Given the description of an element on the screen output the (x, y) to click on. 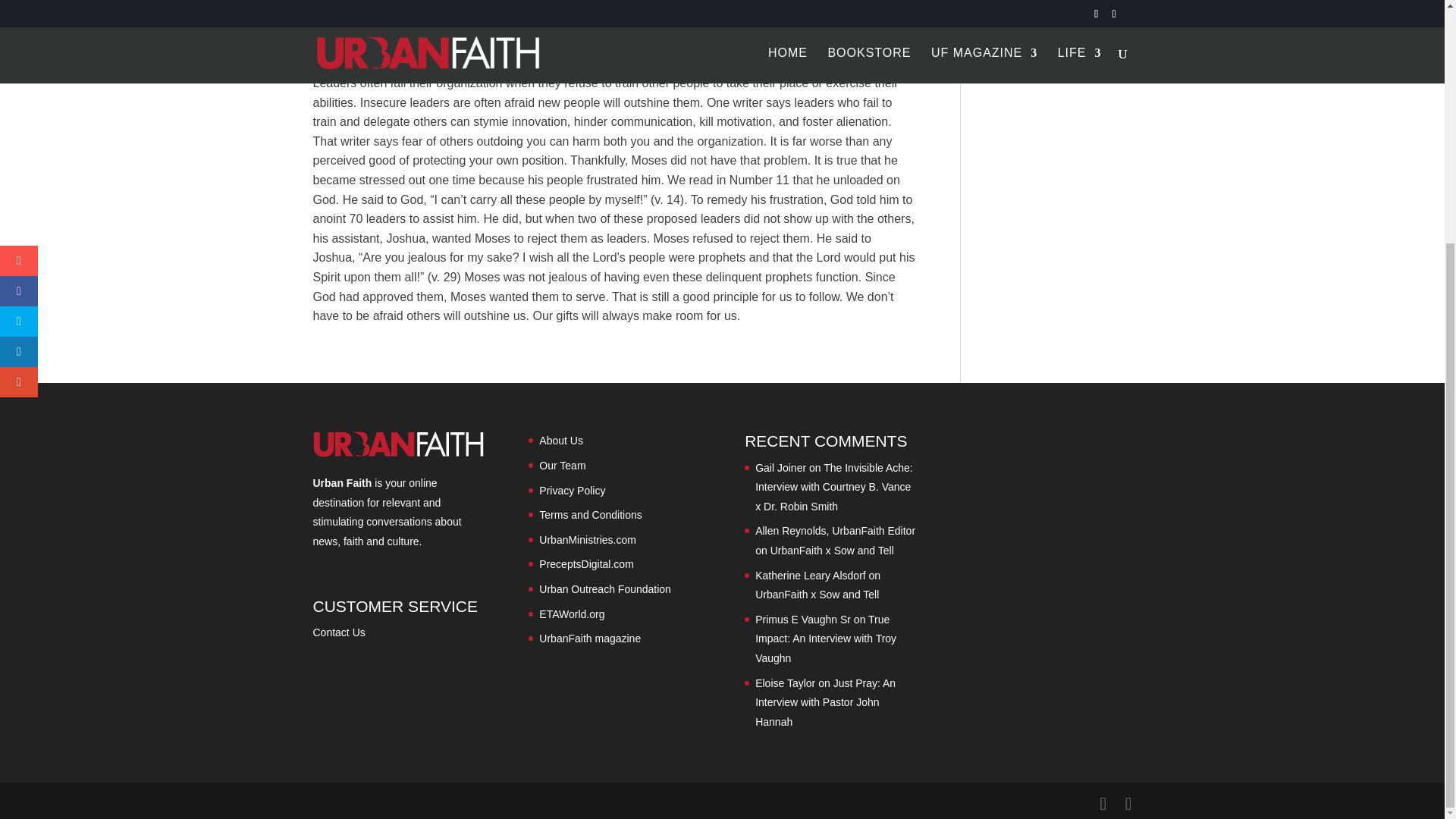
Subscribe via RSS (386, 19)
RSS (386, 19)
